Given the description of an element on the screen output the (x, y) to click on. 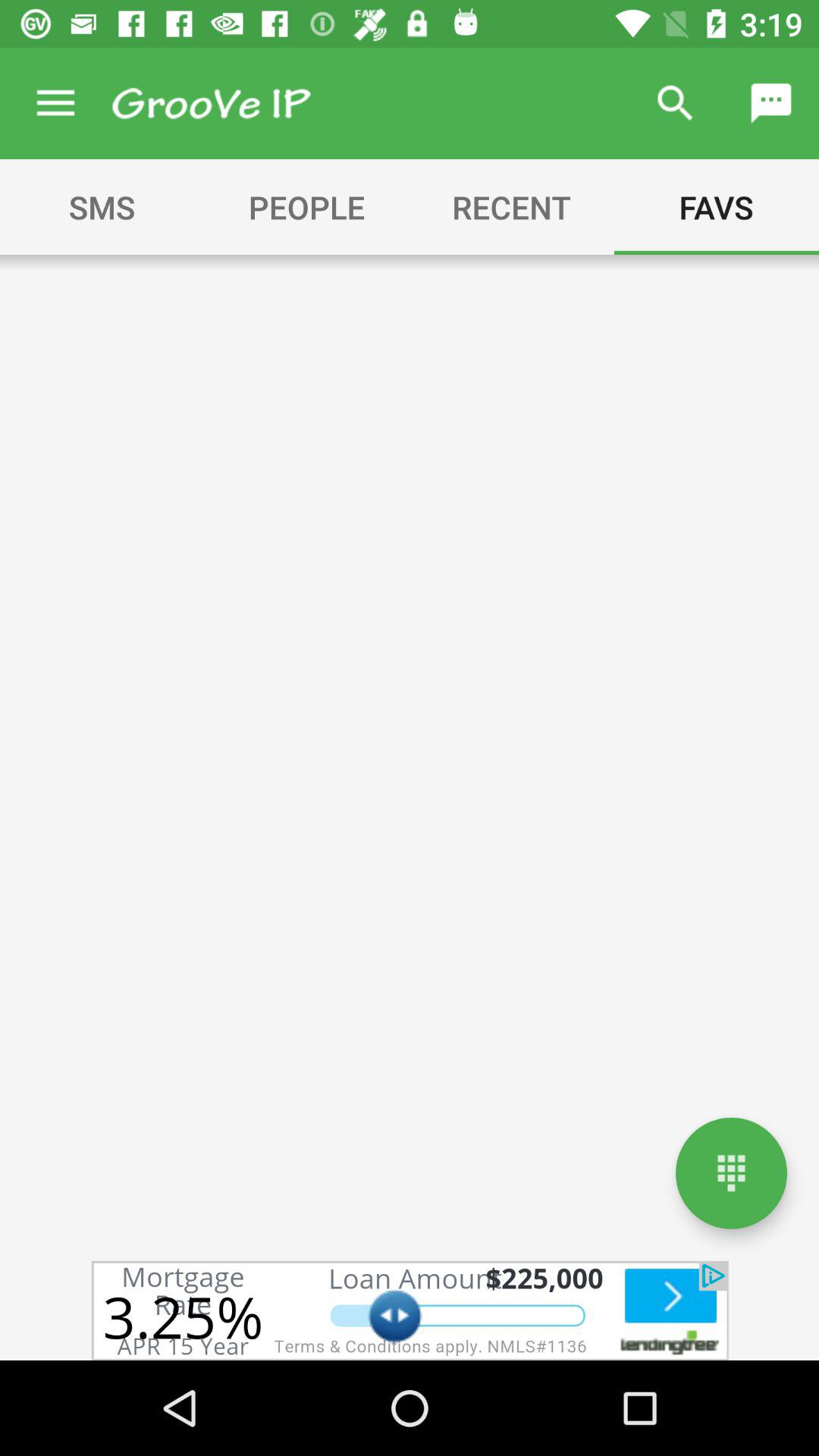
open keypad (731, 1173)
